Given the description of an element on the screen output the (x, y) to click on. 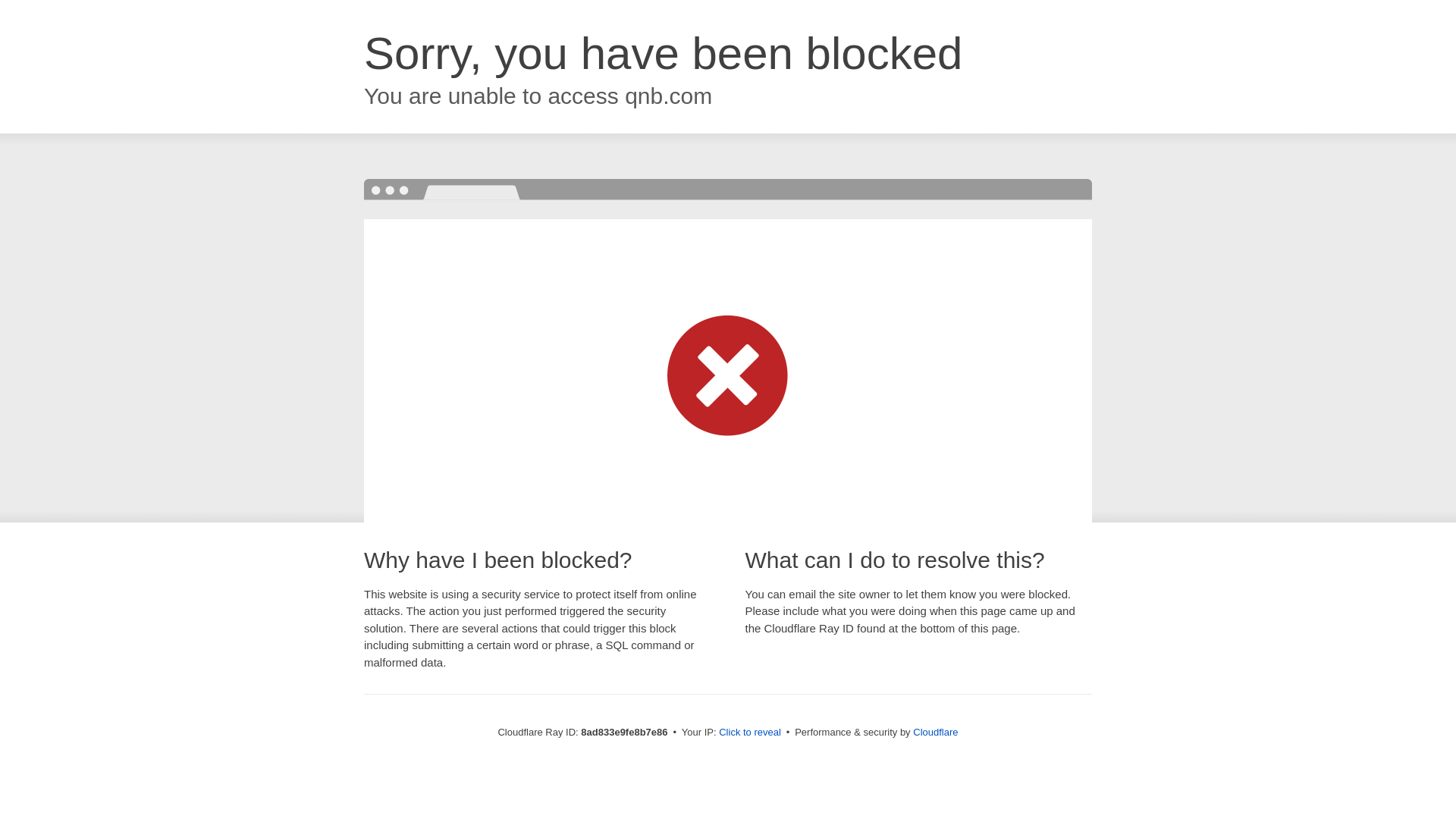
Cloudflare (935, 731)
Click to reveal (749, 732)
